Given the description of an element on the screen output the (x, y) to click on. 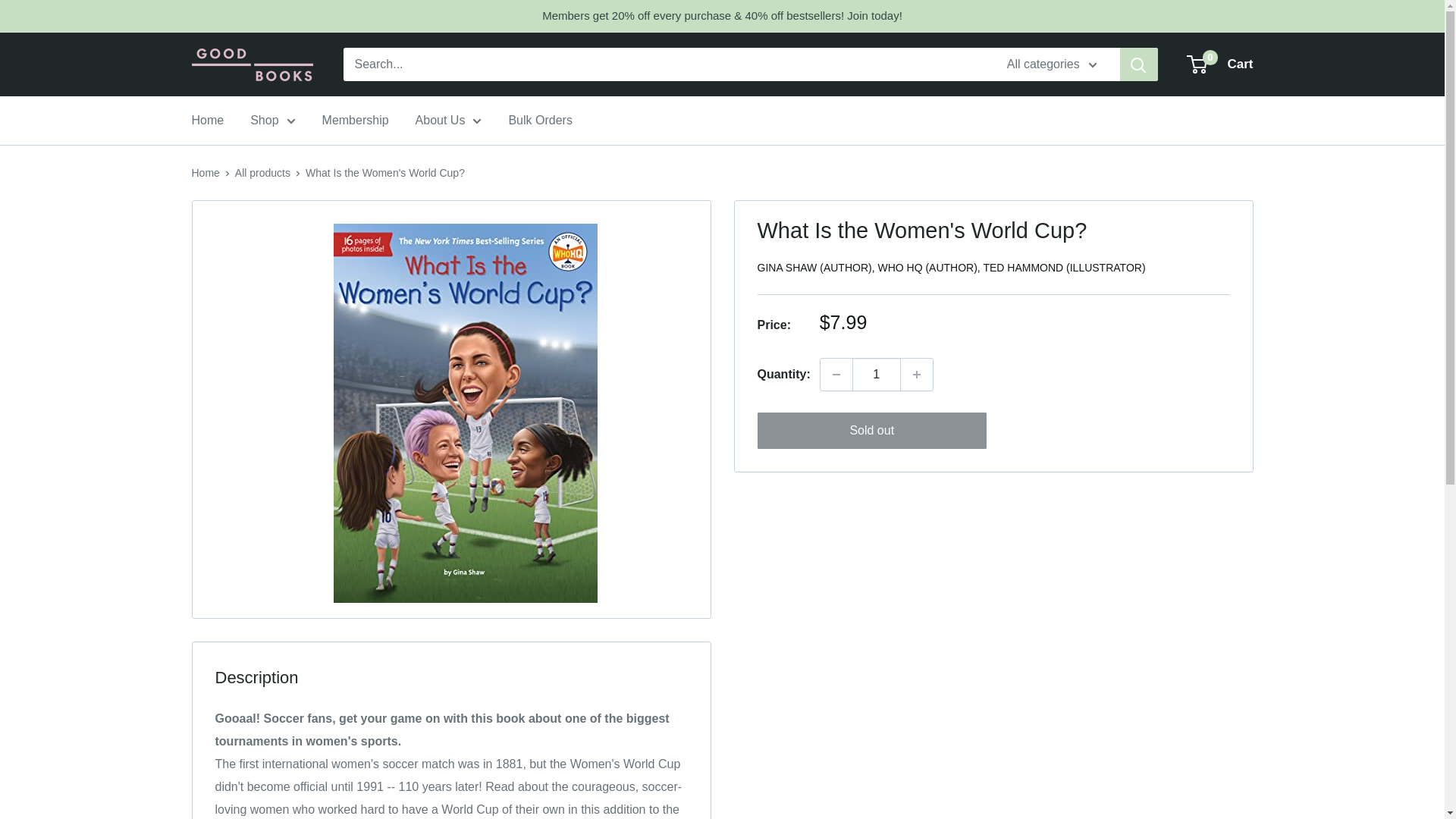
All products (261, 173)
About Us (1220, 64)
Home (447, 119)
Bulk Orders (204, 173)
1 (540, 119)
Good Books NY (876, 374)
Membership (251, 64)
Decrease quantity by 1 (354, 119)
Shop (836, 374)
